Given the description of an element on the screen output the (x, y) to click on. 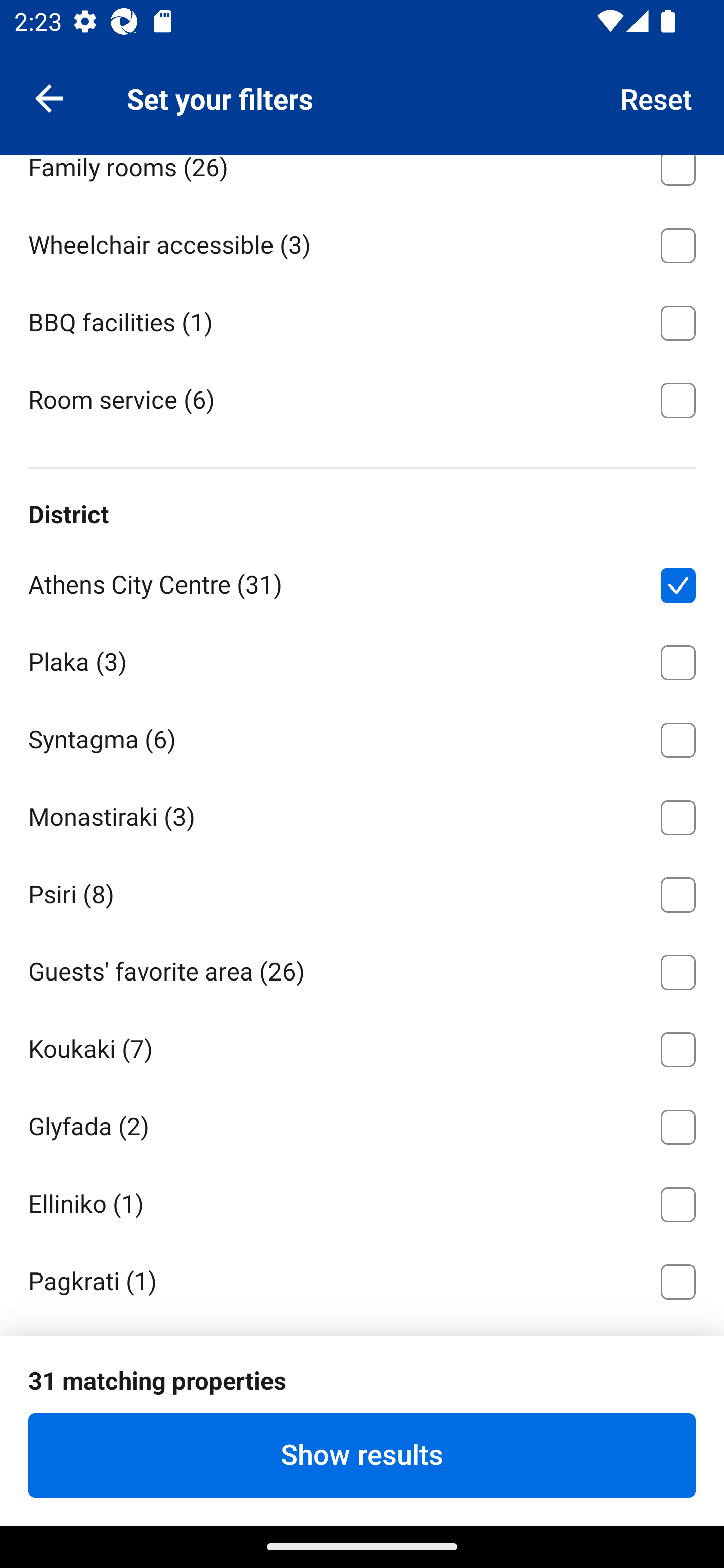
Restaurant ⁦(1) (361, 86)
Navigate up (49, 97)
Reset (656, 97)
Family rooms ⁦(26) (361, 179)
Wheelchair accessible ⁦(3) (361, 241)
BBQ facilities ⁦(1) (361, 319)
Room service ⁦(6) (361, 399)
Athens City Centre ⁦(31) (361, 581)
Plaka ⁦(3) (361, 658)
Syntagma ⁦(6) (361, 736)
Monastiraki ⁦(3) (361, 814)
Psiri ⁦(8) (361, 890)
Guests' favorite area ⁦(26) (361, 968)
Koukaki ⁦(7) (361, 1046)
Glyfada ⁦(2) (361, 1123)
Elliniko ⁦(1) (361, 1200)
Pagkrati ⁦(1) (361, 1278)
Show results (361, 1454)
